Given the description of an element on the screen output the (x, y) to click on. 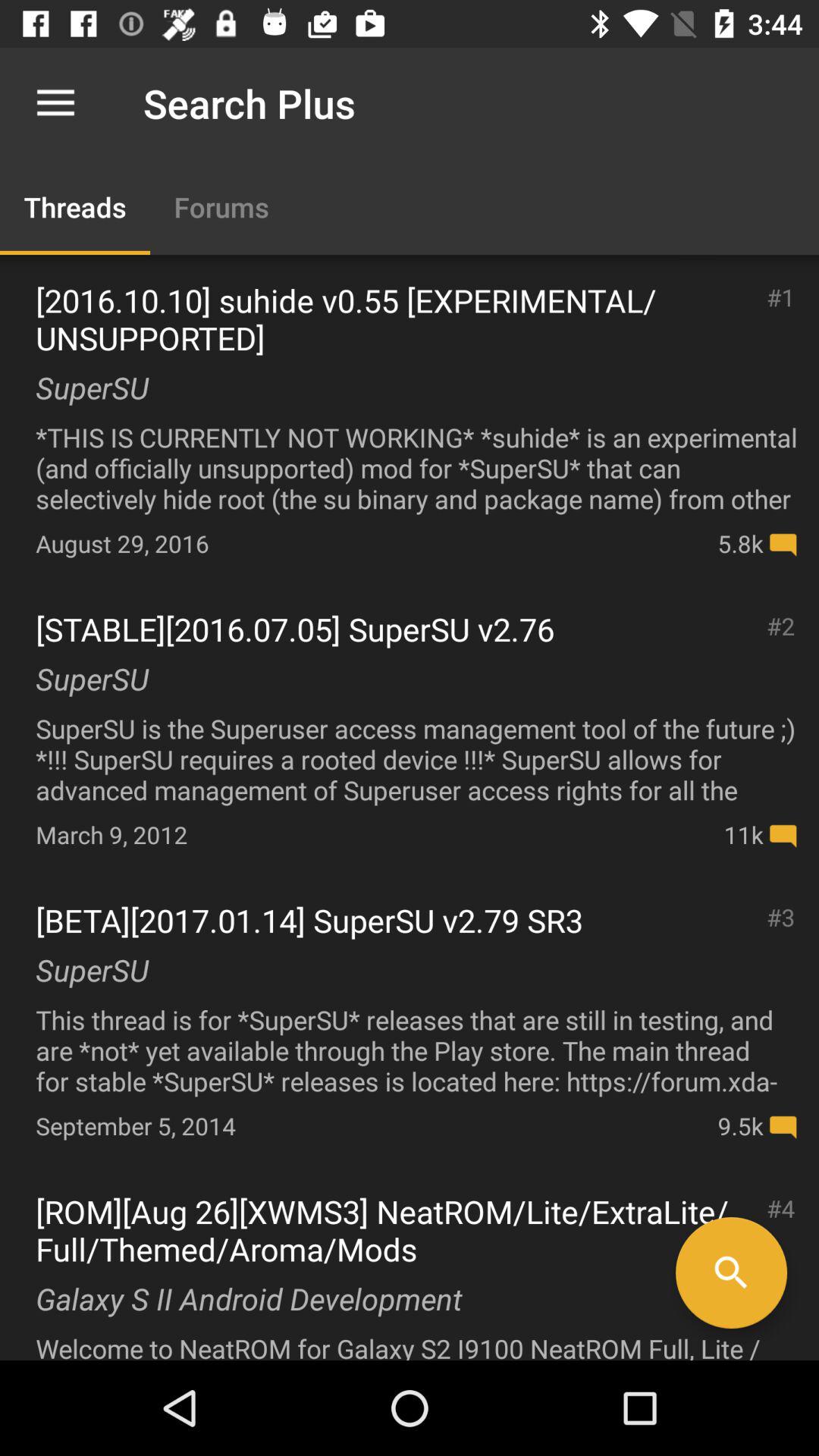
open icon next to galaxy s ii (731, 1272)
